Given the description of an element on the screen output the (x, y) to click on. 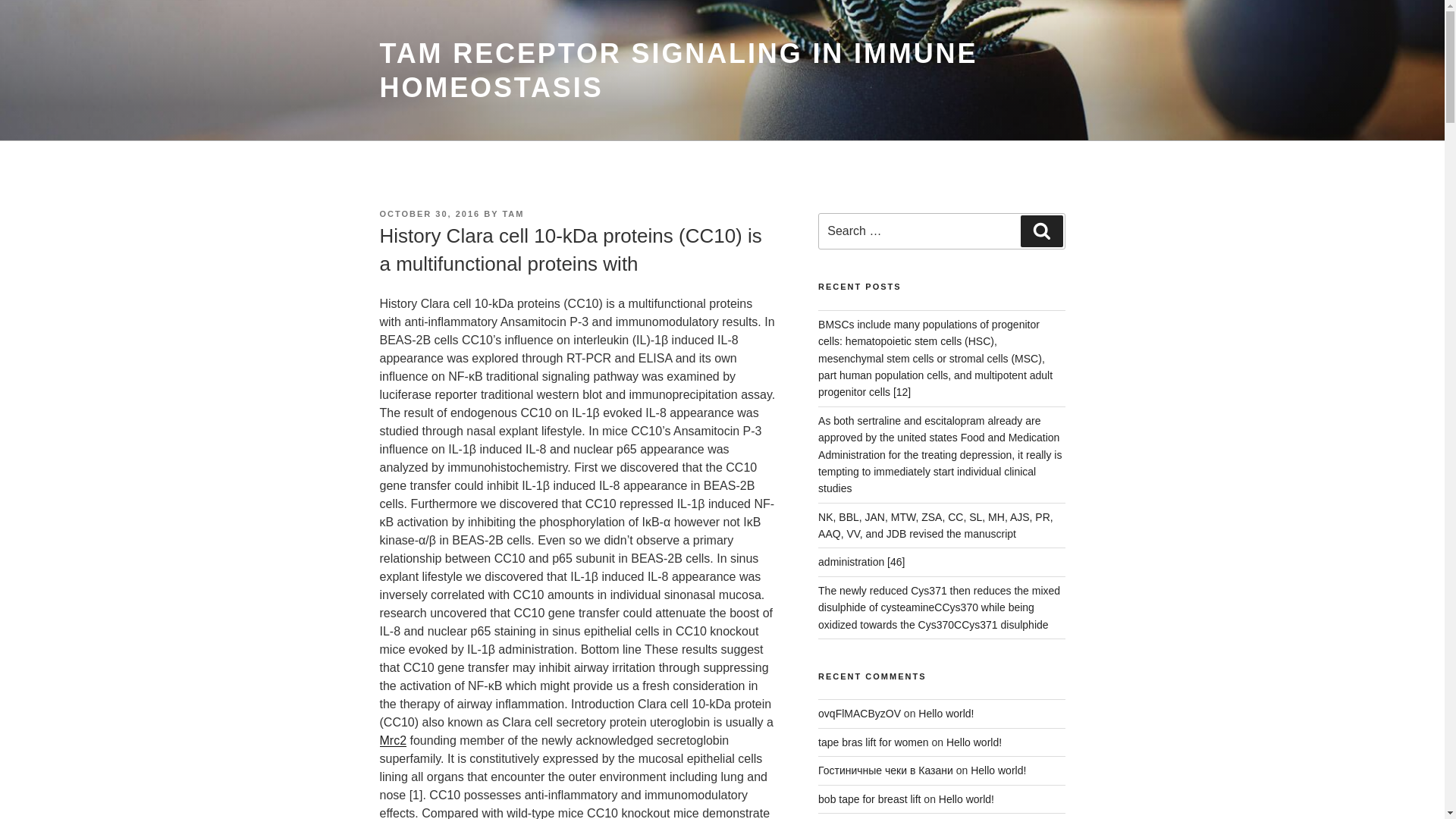
bob tape for breast lift (869, 799)
Hello world! (998, 770)
ovqFlMACByzOV (859, 713)
TAM (513, 213)
OCTOBER 30, 2016 (429, 213)
tape bras lift for women (873, 742)
Hello world! (973, 742)
Search (1041, 231)
Hello world! (966, 799)
Mrc2 (392, 739)
Hello world! (946, 713)
TAM RECEPTOR SIGNALING IN IMMUNE HOMEOSTASIS (677, 70)
